Given the description of an element on the screen output the (x, y) to click on. 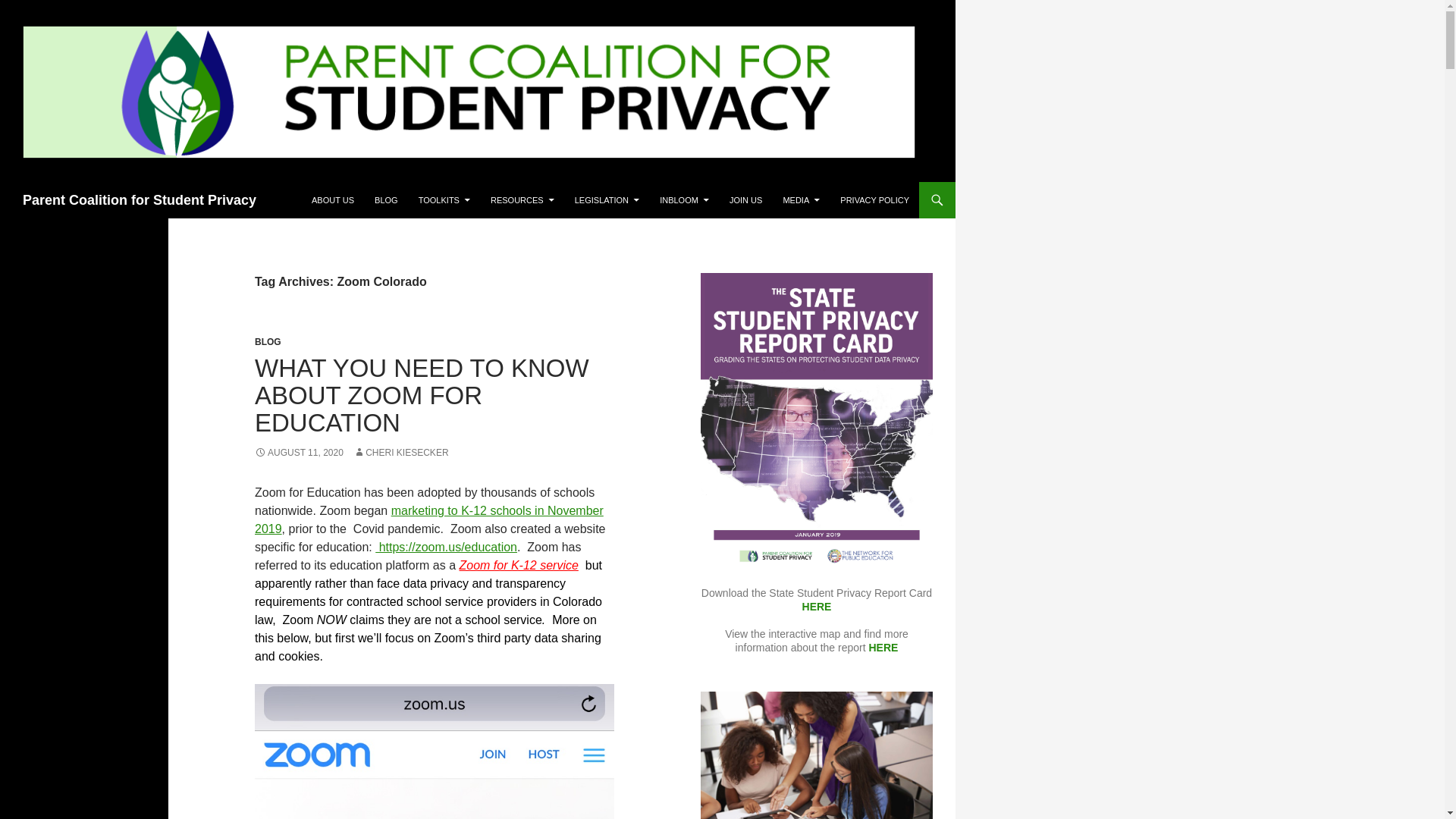
WHAT YOU NEED TO KNOW ABOUT ZOOM FOR EDUCATION (421, 394)
Parent Coalition for Student Privacy (139, 199)
INBLOOM (683, 199)
ABOUT US (332, 199)
PRIVACY POLICY (874, 199)
BLOG (386, 199)
TOOLKITS (444, 199)
marketing to K-12 schools in November 2019 (429, 519)
AUGUST 11, 2020 (298, 452)
JOIN US (745, 199)
LEGISLATION (606, 199)
CHERI KIESECKER (400, 452)
RESOURCES (522, 199)
